Given the description of an element on the screen output the (x, y) to click on. 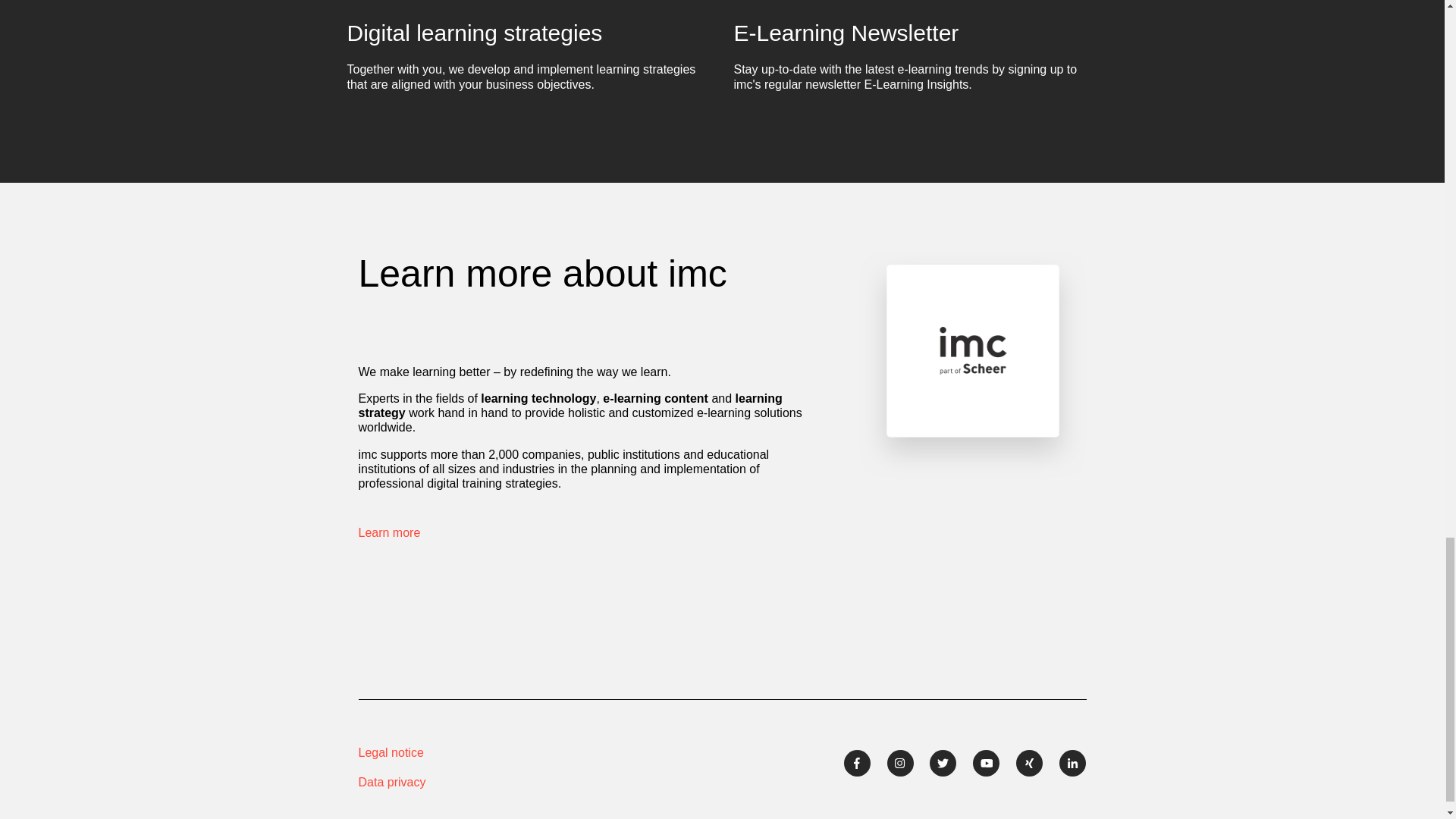
Data privacy (464, 781)
Learn more (389, 532)
Legal notice (464, 752)
